Given the description of an element on the screen output the (x, y) to click on. 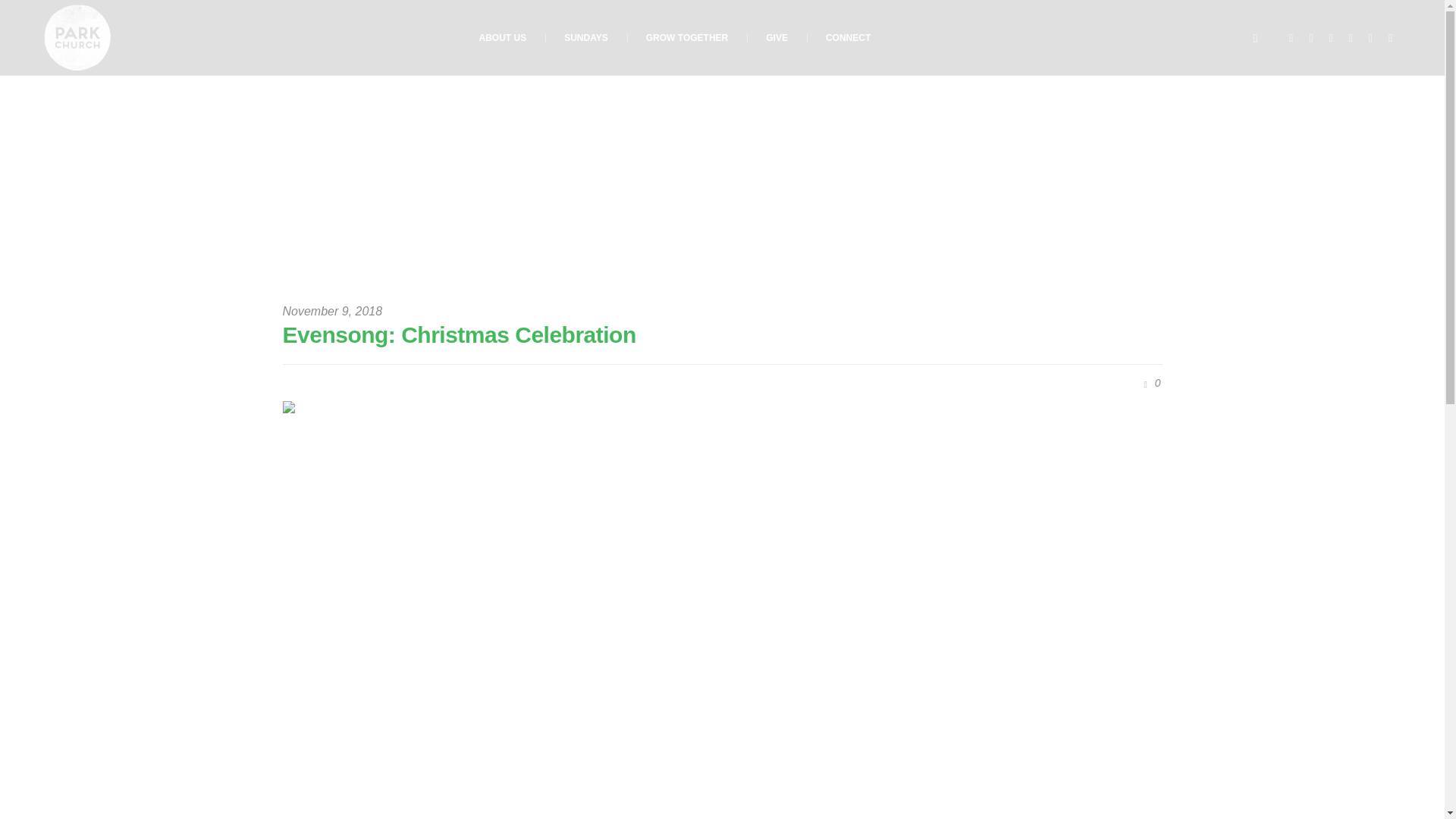
Twitter (1330, 38)
Calendar (1370, 38)
November 9, 2018 (331, 311)
0 (1150, 383)
ABOUT US (503, 37)
Instagram (1350, 38)
SUNDAYS (585, 37)
CONNECT (847, 37)
Facebook (1291, 38)
Login (1390, 38)
GROW TOGETHER (686, 37)
YouTube (1311, 38)
Evensong: Christmas Celebration (721, 646)
